Given the description of an element on the screen output the (x, y) to click on. 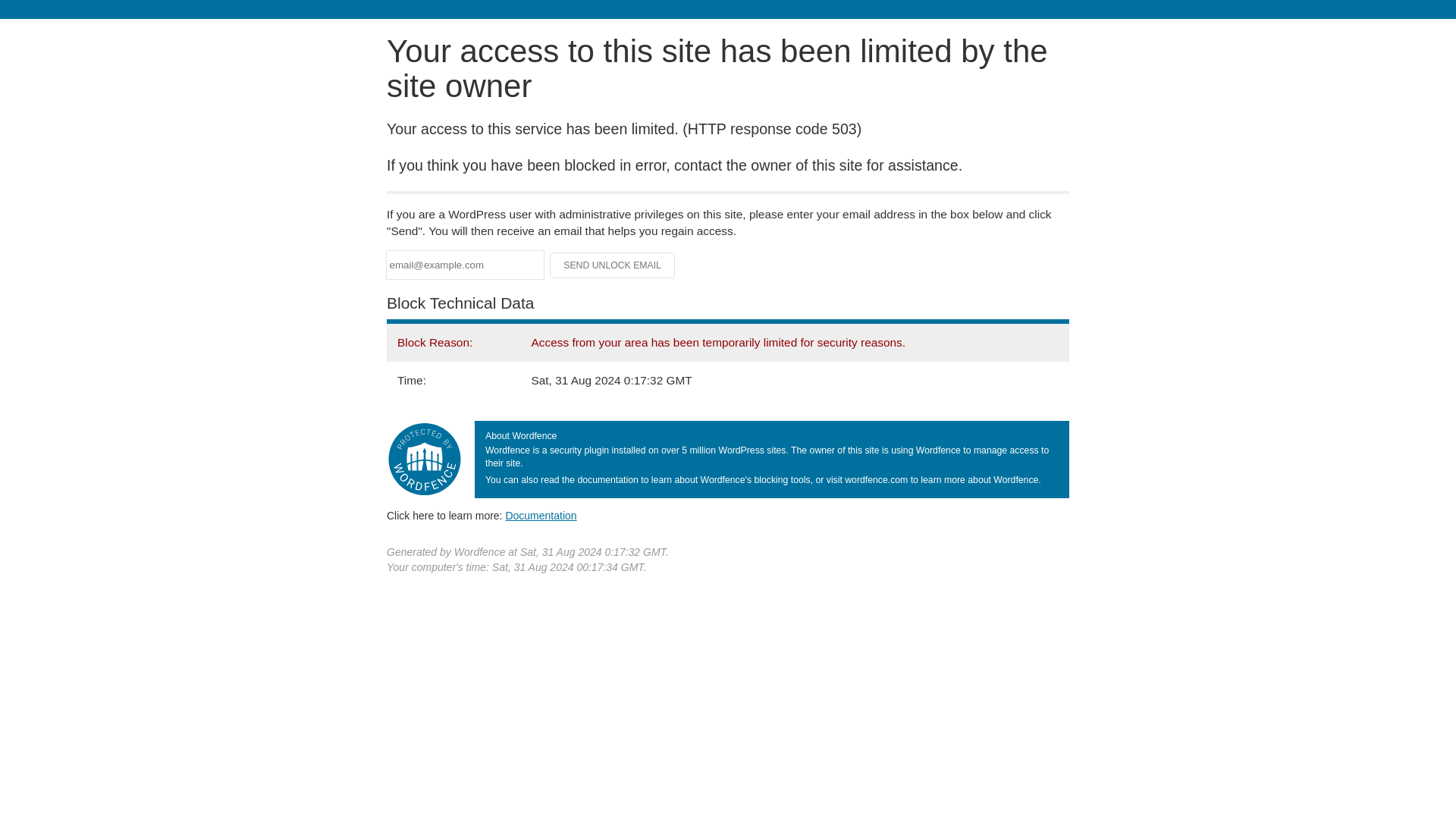
Send Unlock Email (612, 265)
Documentation (540, 515)
Send Unlock Email (612, 265)
